Given the description of an element on the screen output the (x, y) to click on. 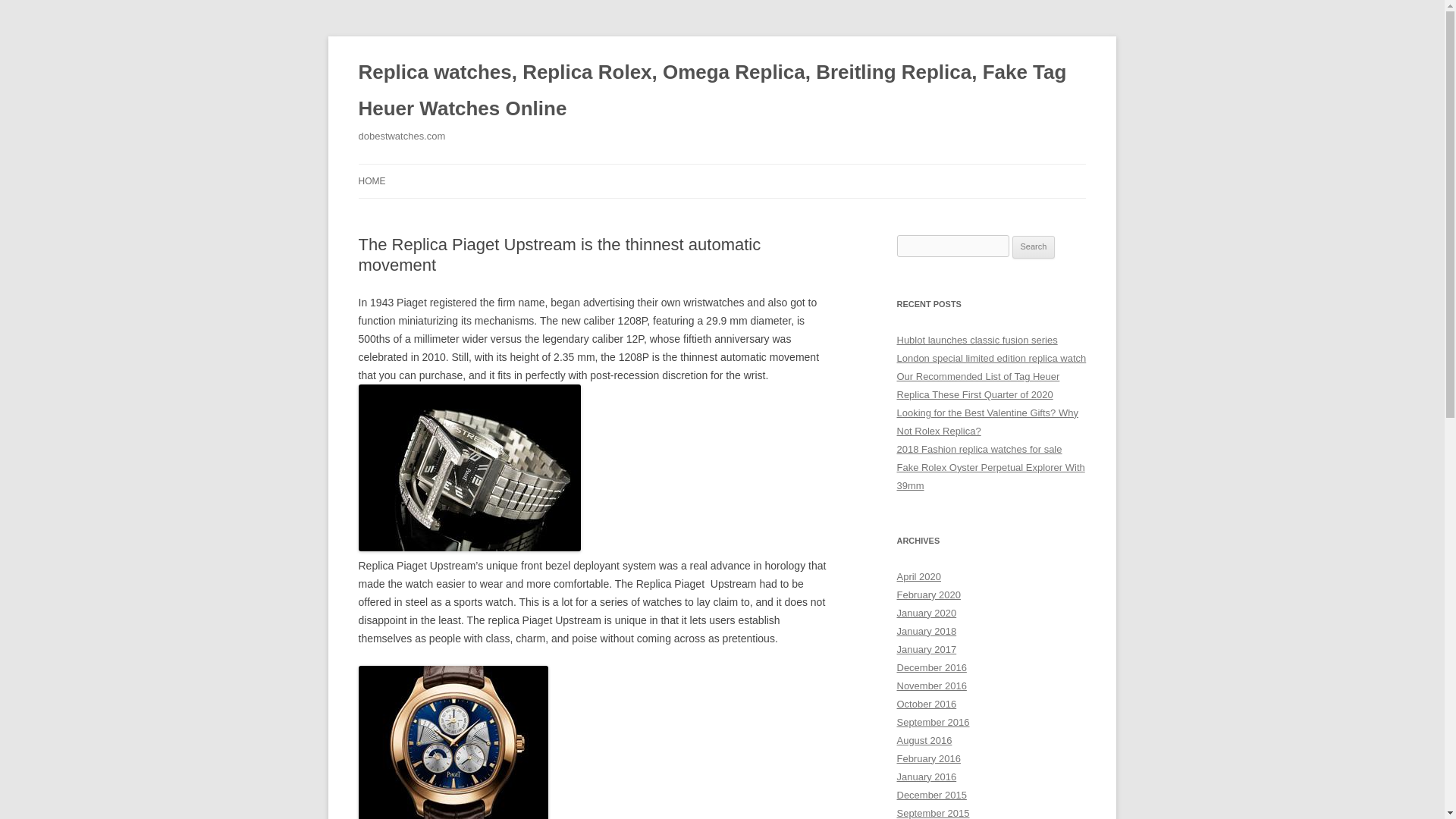
2018 Fashion replica watches for sale (978, 449)
October 2016 (926, 704)
January 2017 (926, 649)
November 2016 (931, 685)
January 2018 (926, 631)
Looking for the Best Valentine Gifts? Why Not Rolex Replica? (986, 421)
September 2015 (932, 813)
